Given the description of an element on the screen output the (x, y) to click on. 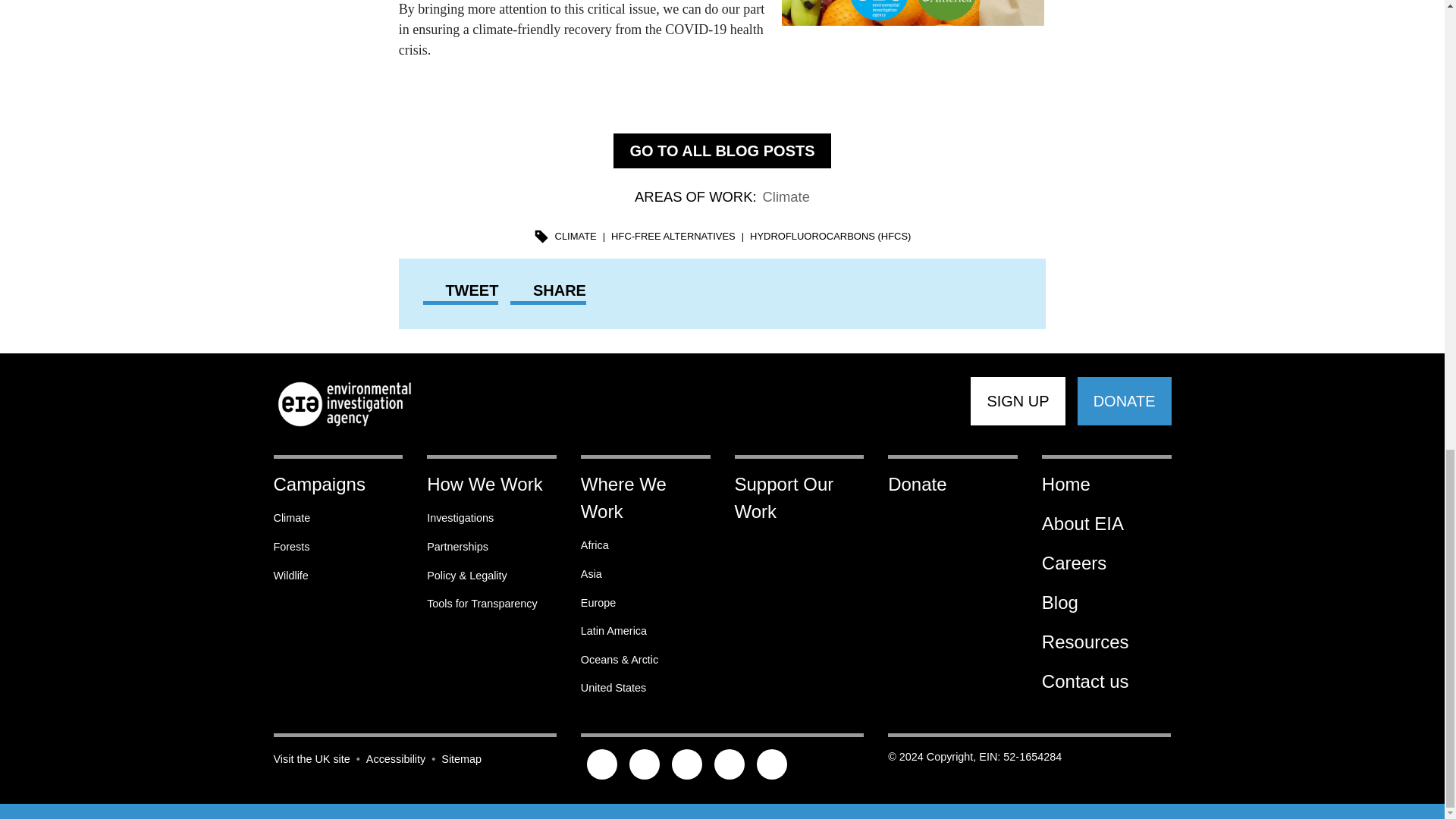
Youtube (729, 765)
Twitter (601, 765)
Linkedin (771, 765)
Facebook (644, 765)
Instagram (686, 765)
